Given the description of an element on the screen output the (x, y) to click on. 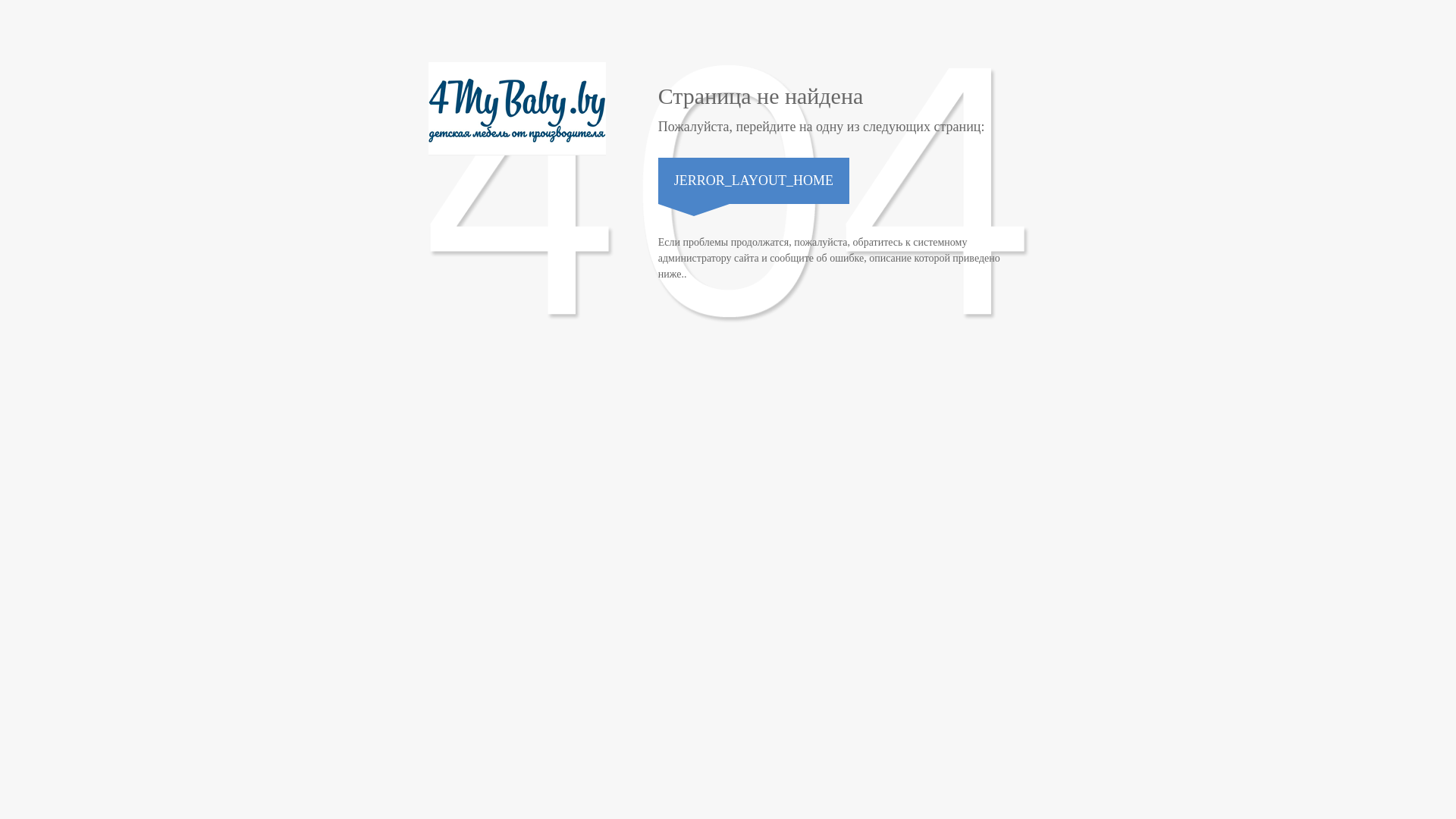
JERROR_LAYOUT_HOME Element type: text (753, 180)
